Given the description of an element on the screen output the (x, y) to click on. 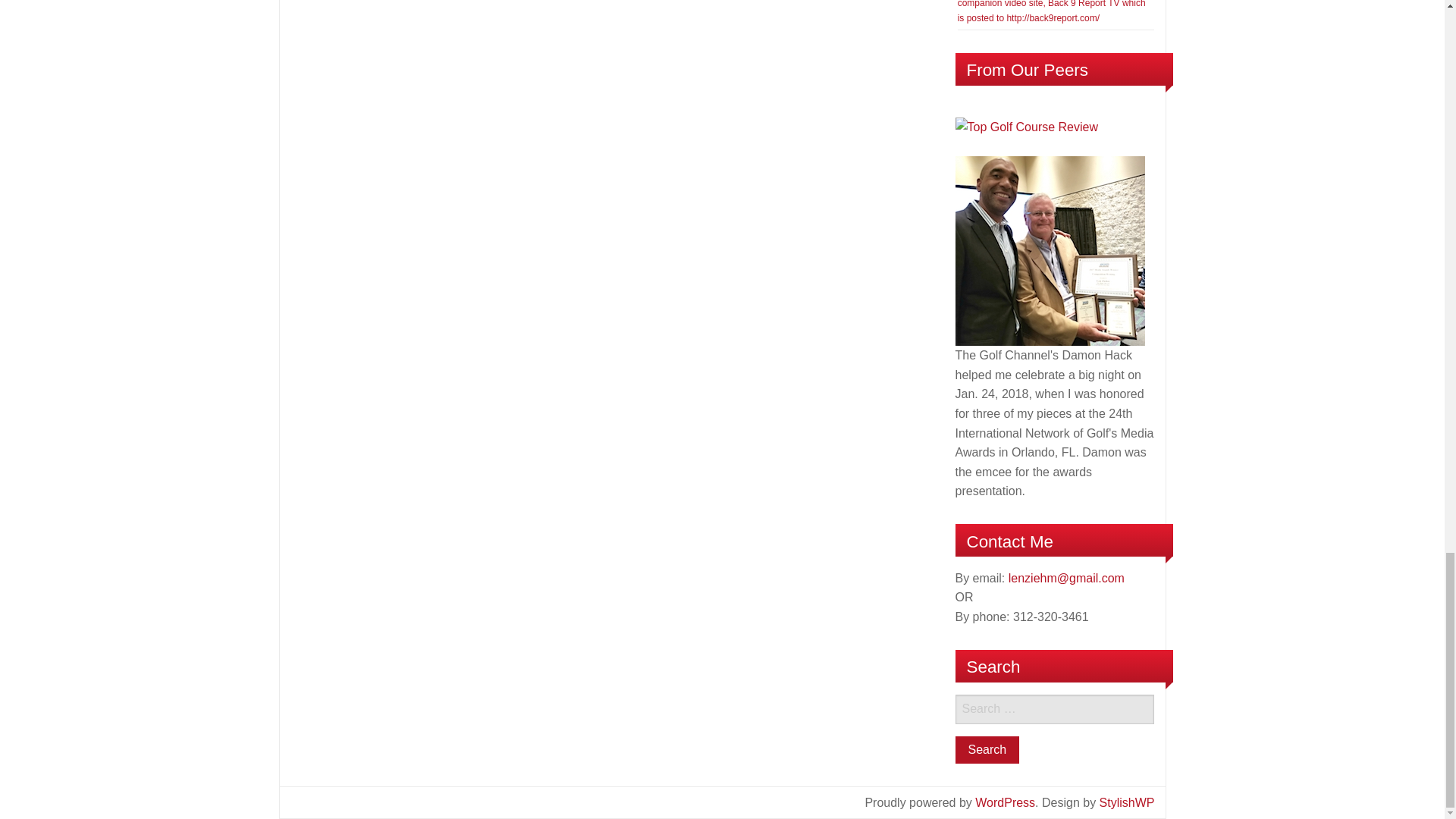
Search (987, 749)
BlogoLife (1126, 802)
Search (987, 749)
Search (987, 749)
